Given the description of an element on the screen output the (x, y) to click on. 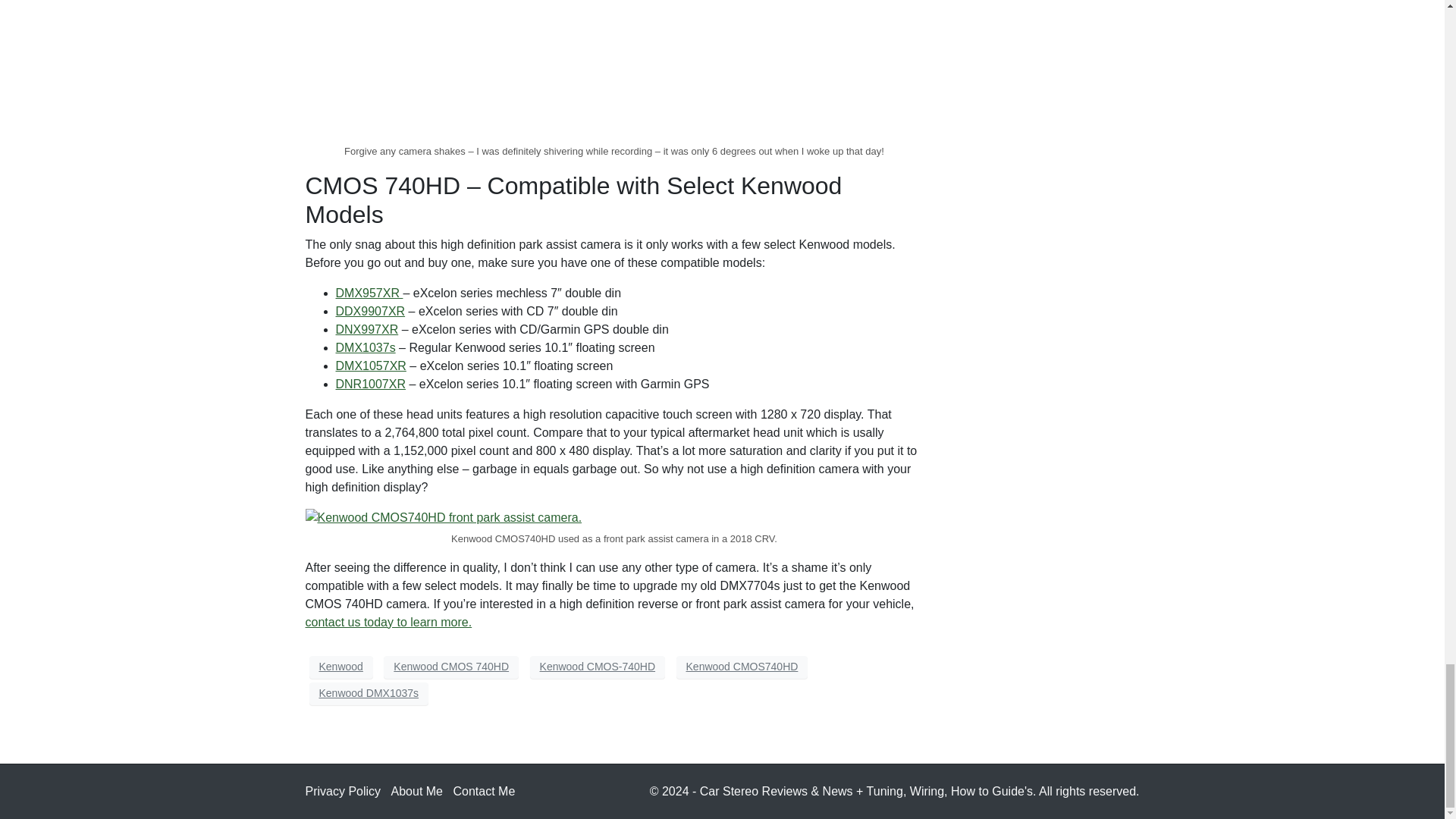
DNX997XR (365, 328)
DMX957XR (368, 292)
DDX9907XR (369, 310)
Kenwood CMOS740HD front camera (442, 517)
